Given the description of an element on the screen output the (x, y) to click on. 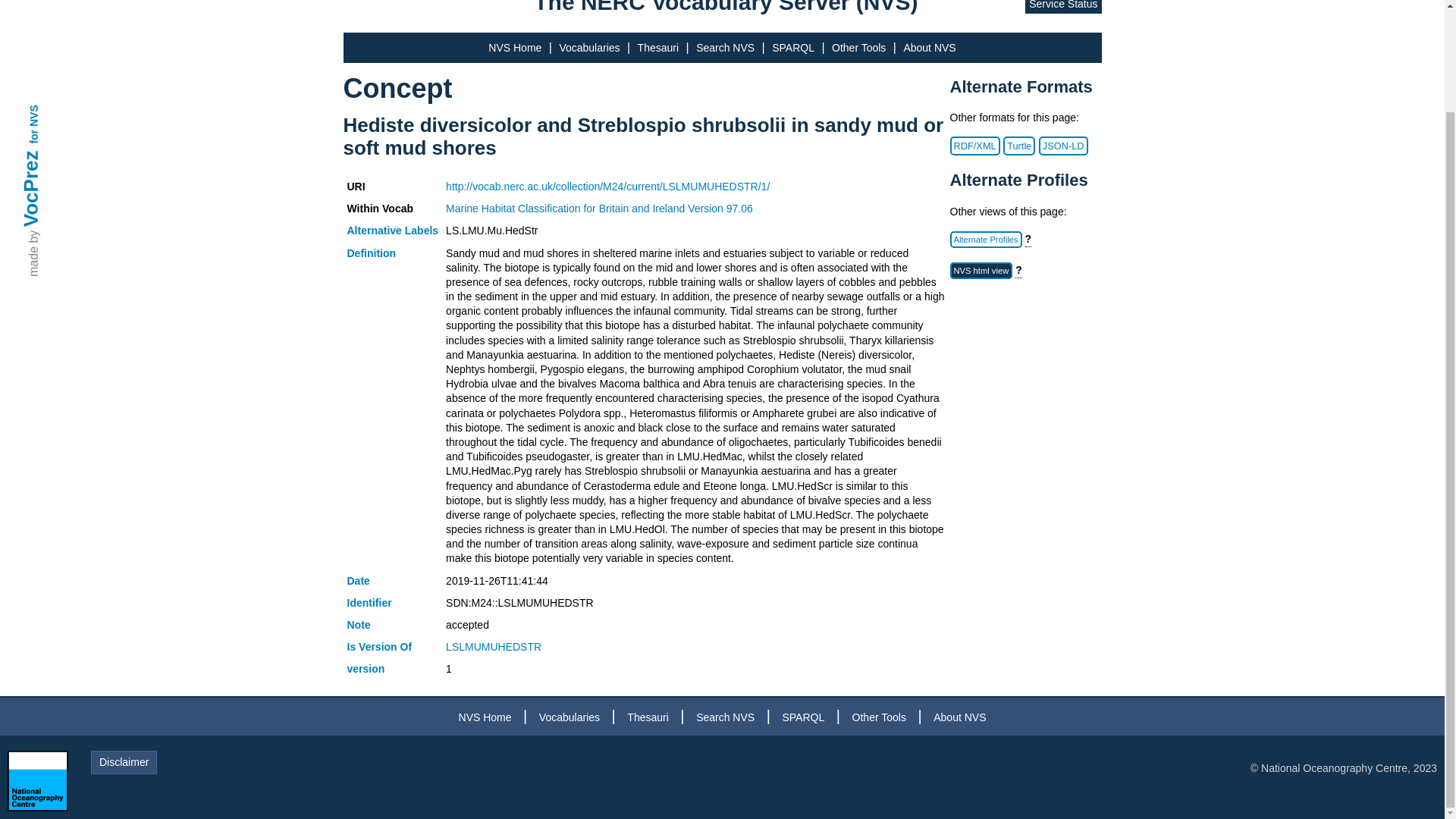
NVS Home (485, 717)
VocPrez (58, 42)
NVS Home (514, 47)
Alternate Profiles (985, 239)
Thesauri (657, 47)
version (366, 668)
Note (359, 624)
Service Status (1062, 6)
Thesauri (647, 717)
Alternative Labels (393, 230)
Vocabularies (568, 717)
Is Version Of (379, 646)
SPARQL (802, 717)
About NVS (928, 47)
Turtle (1019, 145)
